Given the description of an element on the screen output the (x, y) to click on. 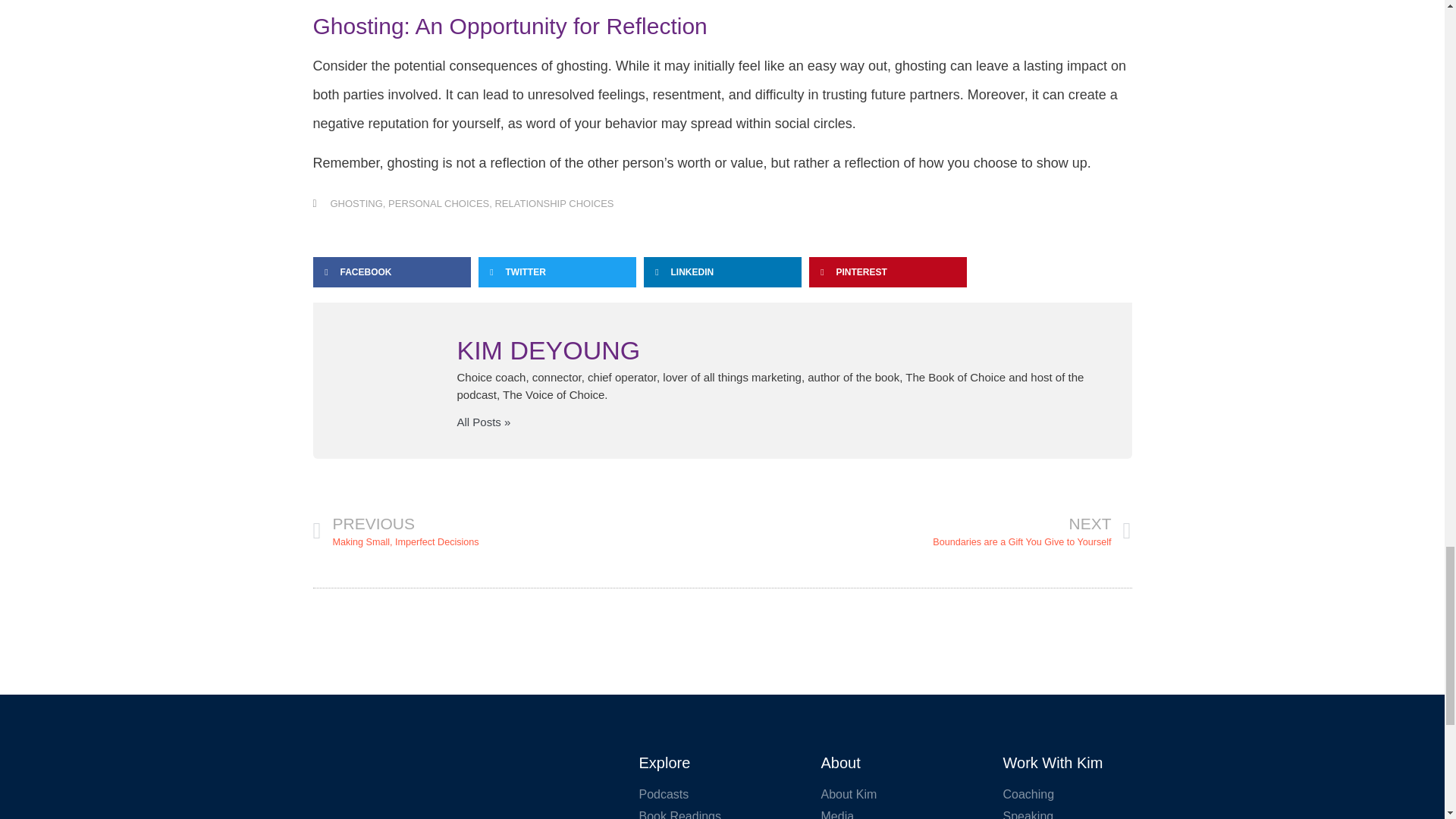
PERSONAL CHOICES (438, 203)
KIM DEYOUNG (777, 350)
RELATIONSHIP CHOICES (517, 530)
GHOSTING (553, 203)
